Given the description of an element on the screen output the (x, y) to click on. 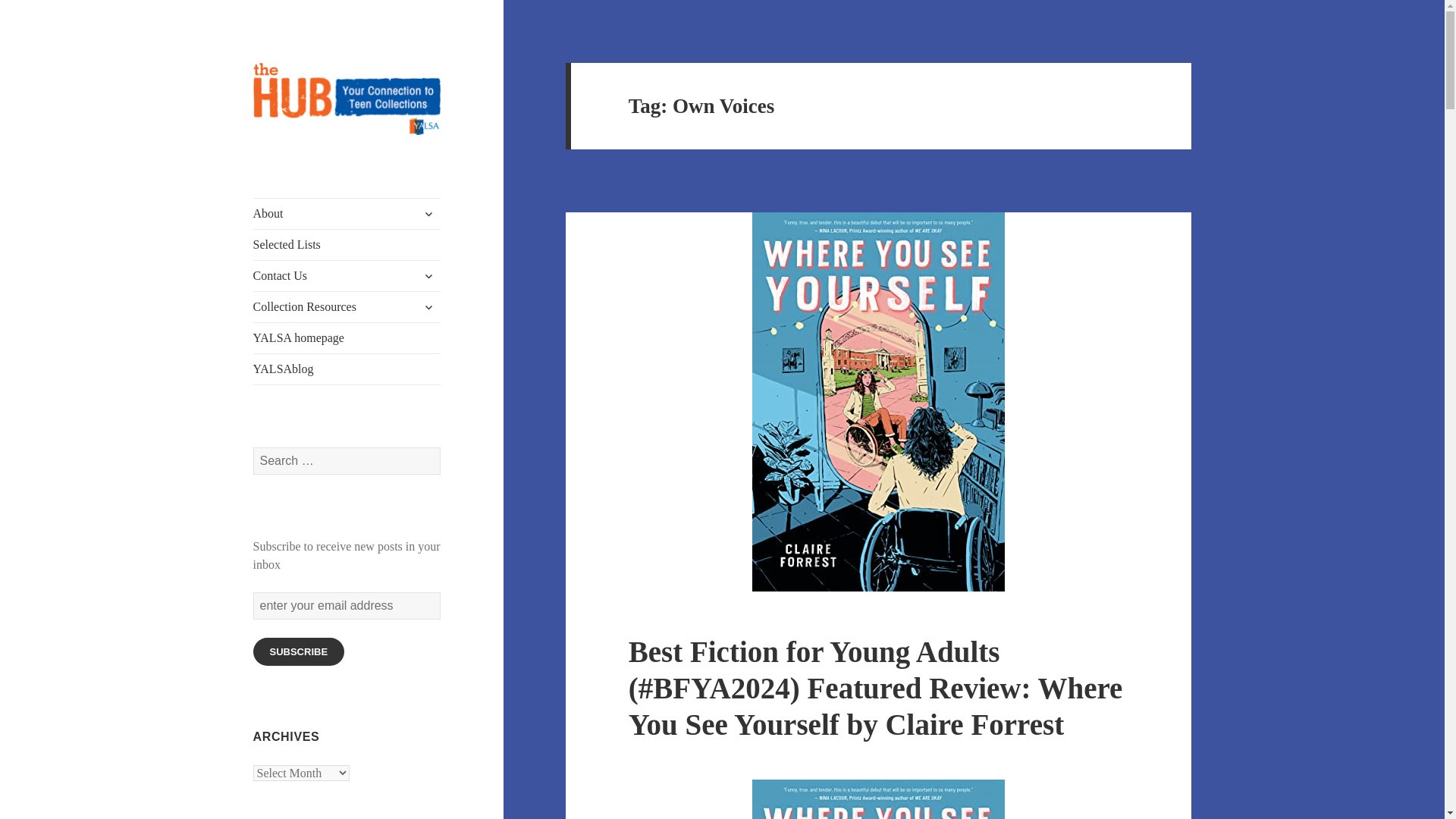
Collection Resources (347, 306)
YALSA homepage (347, 337)
expand child menu (428, 213)
About (347, 214)
YALSAblog (347, 368)
Selected Lists (347, 245)
The Hub (293, 159)
Contact Us (347, 276)
expand child menu (428, 275)
expand child menu (428, 306)
SUBSCRIBE (299, 651)
